Given the description of an element on the screen output the (x, y) to click on. 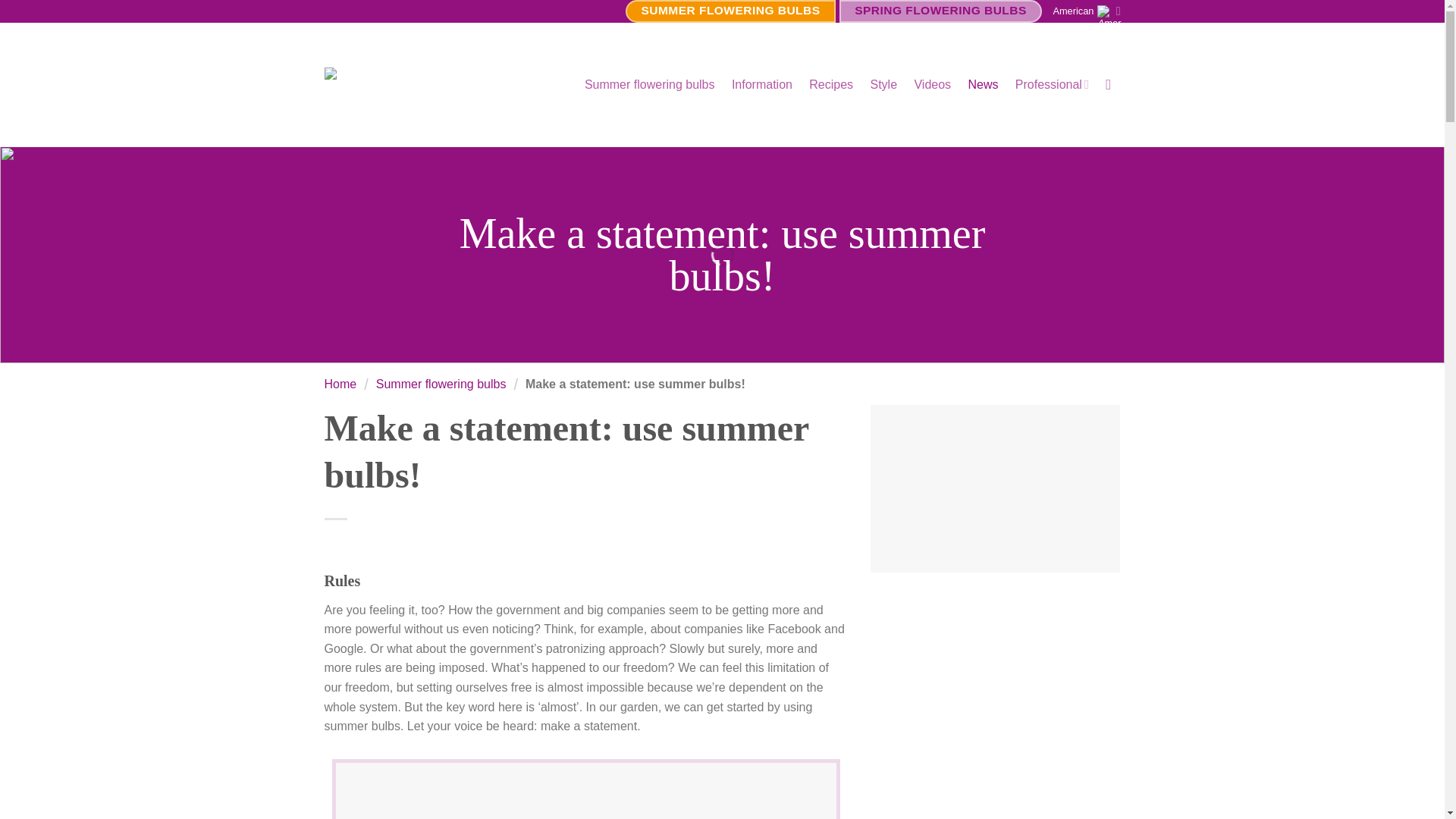
American (1085, 11)
Make a statement: use summer bulbs! (635, 383)
SPRING FLOWERING BULBS (941, 11)
Home (340, 383)
SUMMER FLOWERING BULBS (730, 11)
Home (340, 383)
Flowerbulbs.com - Discover flower bulbs (437, 84)
Summer flowering bulbs (440, 383)
Summer flowering bulbs (649, 84)
Summer flowering bulbs (440, 383)
